Given the description of an element on the screen output the (x, y) to click on. 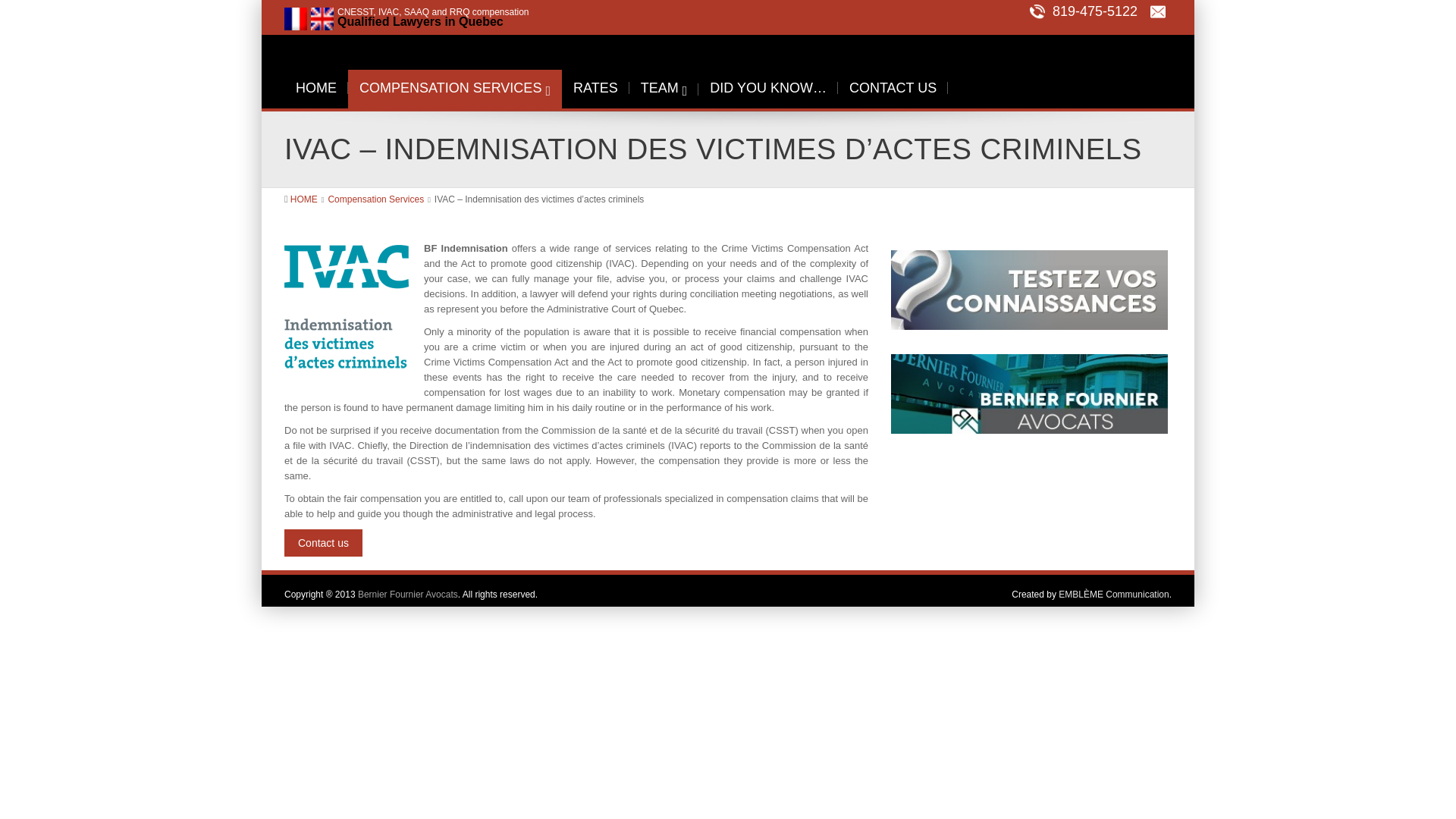
TEAM (663, 88)
Home (303, 199)
HOME (303, 199)
819-475-5122 (1083, 11)
Bernier Fournier Avocats (408, 593)
COMPENSATION SERVICES (454, 88)
Compensation Services (375, 199)
RATES (595, 87)
CONTACT US (892, 87)
HOME (315, 87)
Contact us (322, 542)
Bernier Fournier Avocats Drummondville (1029, 388)
Bernier Fournier Indemnisation (1076, 59)
